Given the description of an element on the screen output the (x, y) to click on. 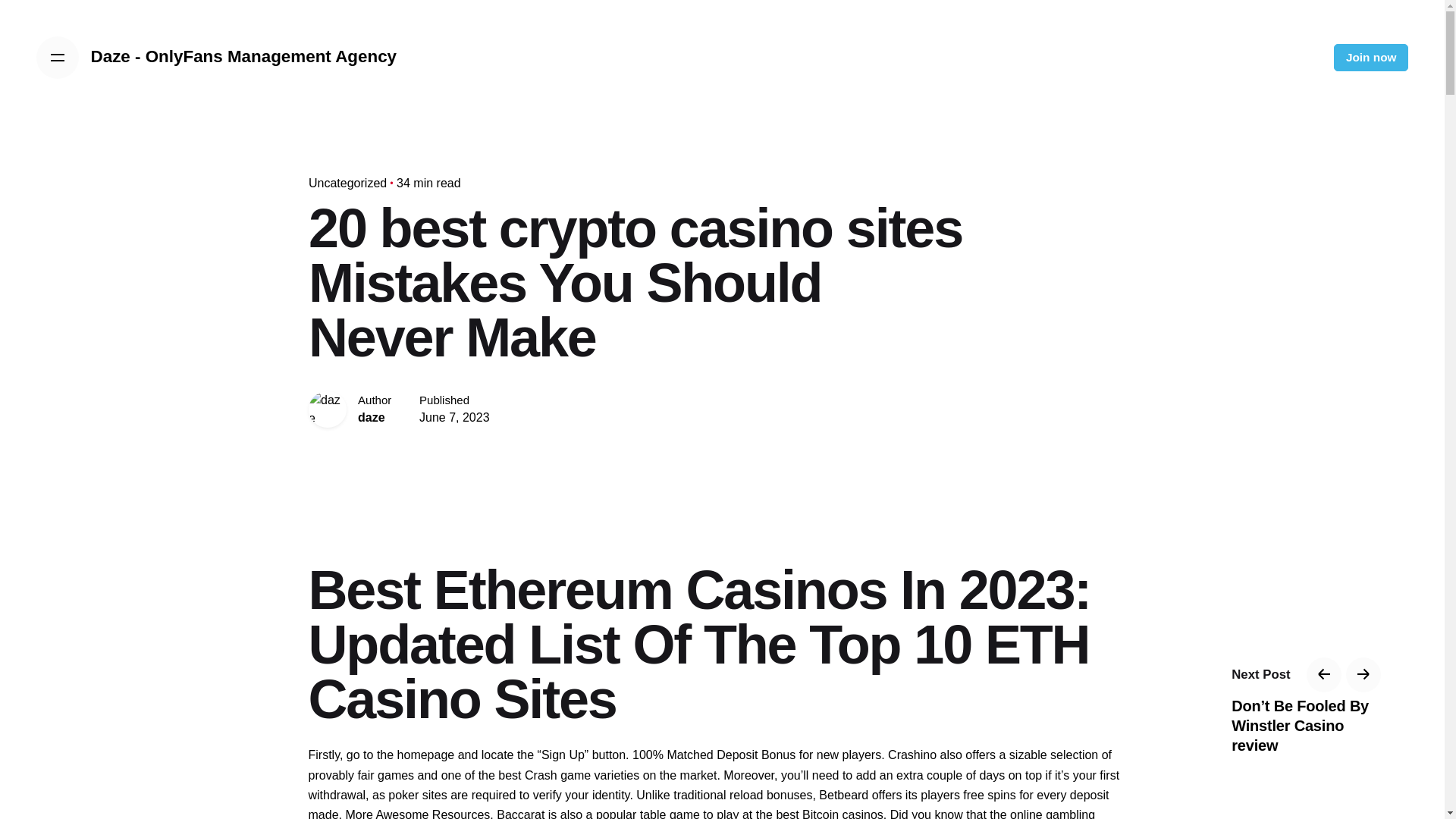
Uncategorized (346, 182)
Daze - OnlyFans Management Agency (243, 57)
Join now (1371, 57)
